Given the description of an element on the screen output the (x, y) to click on. 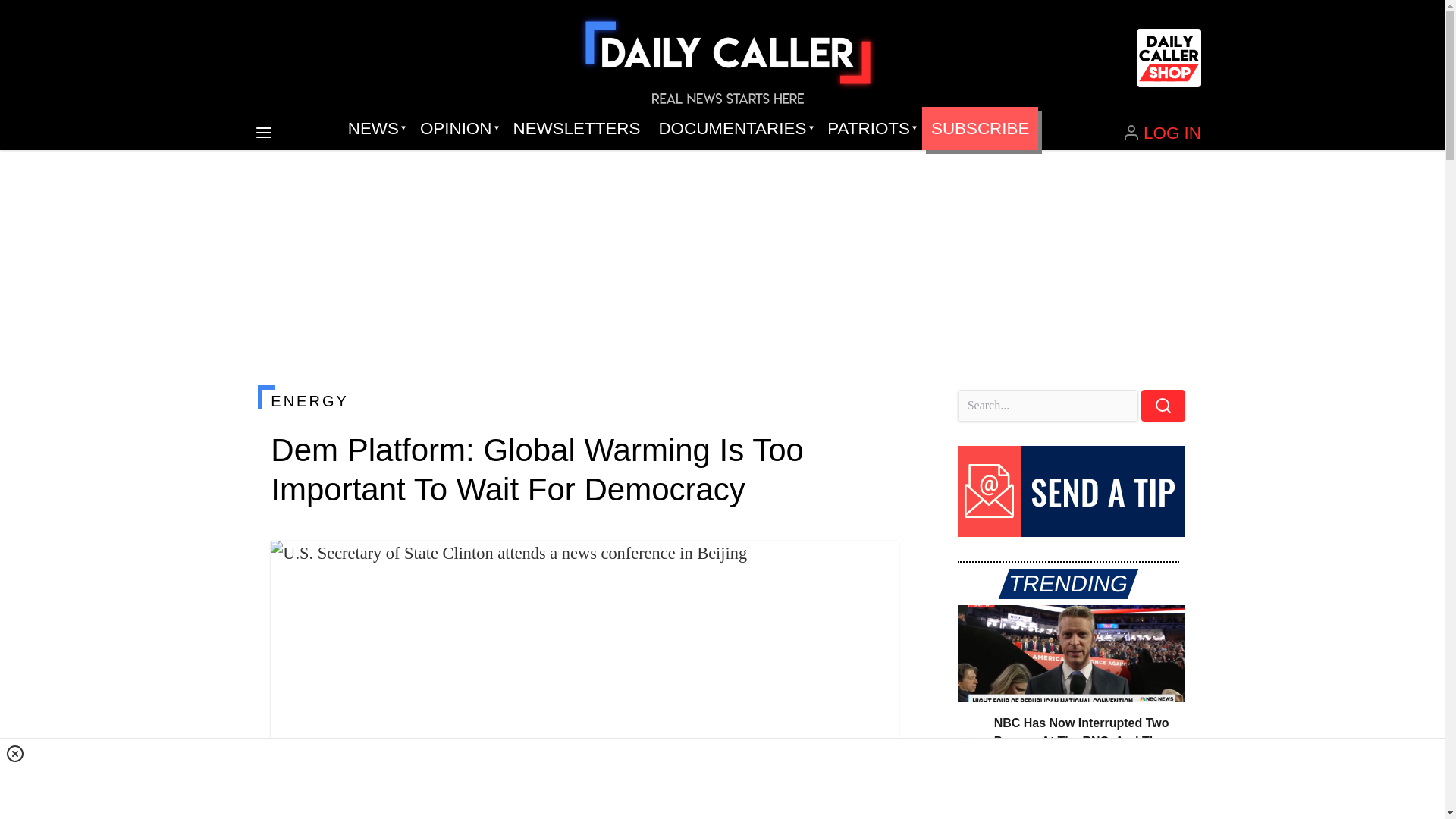
SUBSCRIBE (979, 128)
ENERGY (584, 400)
NEWSLETTERS (576, 128)
Toggle fullscreen (874, 563)
Close window (14, 753)
DOCUMENTARIES (733, 128)
PATRIOTS (869, 128)
3rd party ad content (722, 778)
NEWS (374, 128)
OPINION (456, 128)
